Given the description of an element on the screen output the (x, y) to click on. 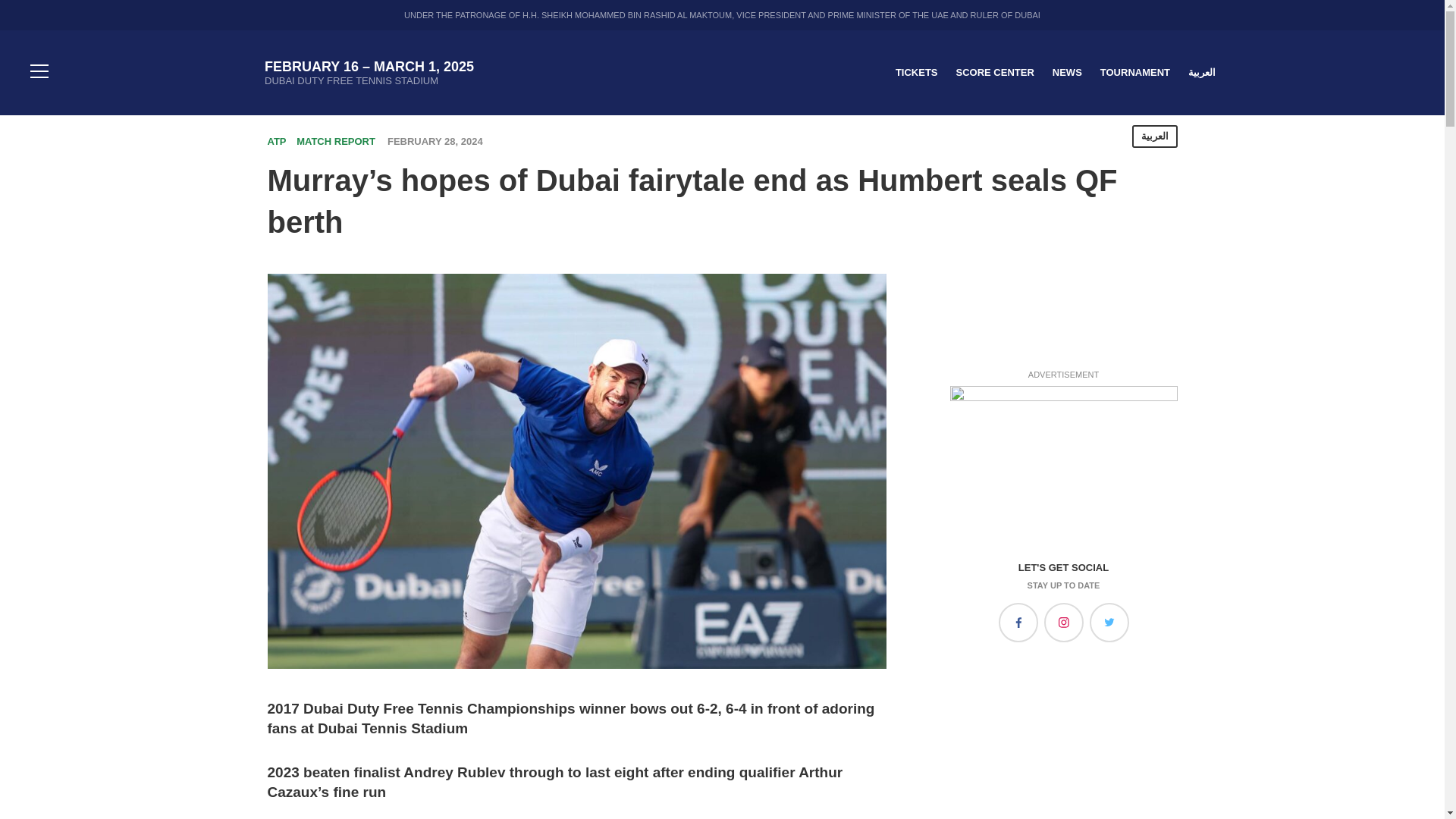
TICKETS (916, 71)
SCORE CENTER (994, 71)
Dubai Duty Free Tennis Championship (156, 72)
TOURNAMENT (1135, 71)
Toggle menu (39, 72)
NEWS (1066, 71)
